Given the description of an element on the screen output the (x, y) to click on. 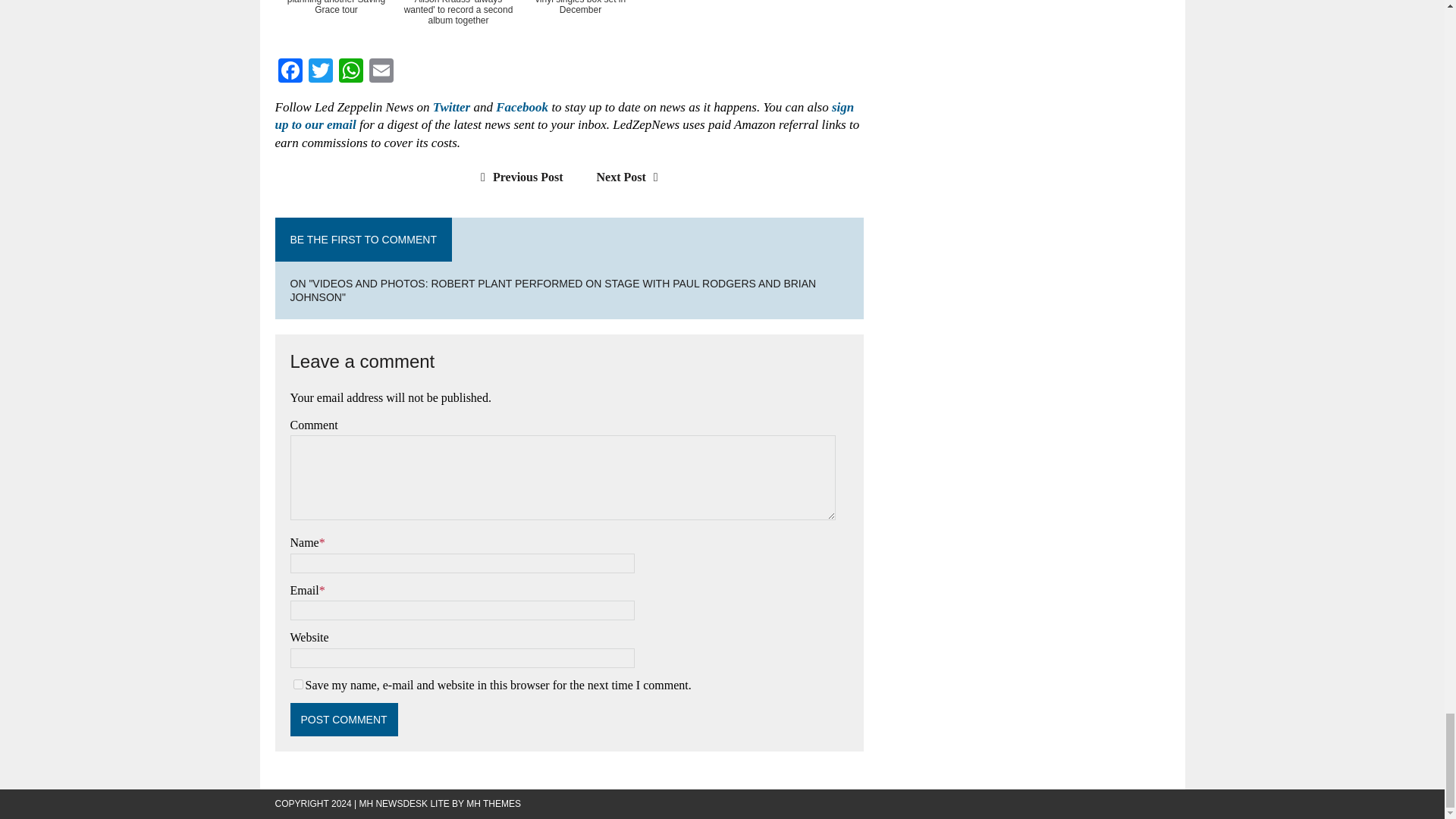
Email (380, 72)
Post Comment (343, 719)
Facebook (289, 72)
Twitter (319, 72)
Facebook (289, 72)
WhatsApp (349, 72)
yes (297, 684)
